Given the description of an element on the screen output the (x, y) to click on. 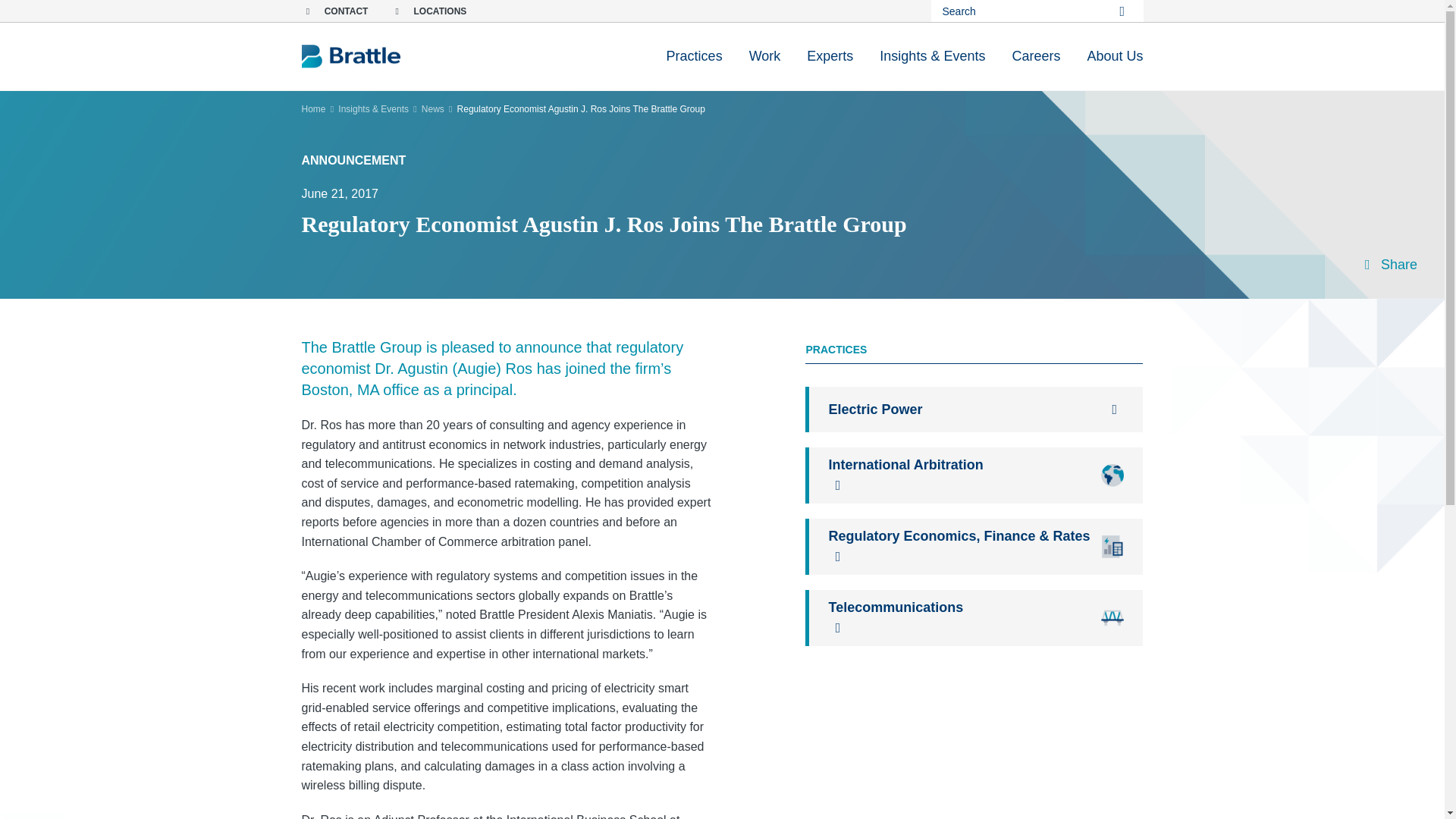
Practices (694, 56)
Work (764, 56)
Experts (829, 56)
LOCATIONS (427, 11)
CONTACT (334, 11)
